Given the description of an element on the screen output the (x, y) to click on. 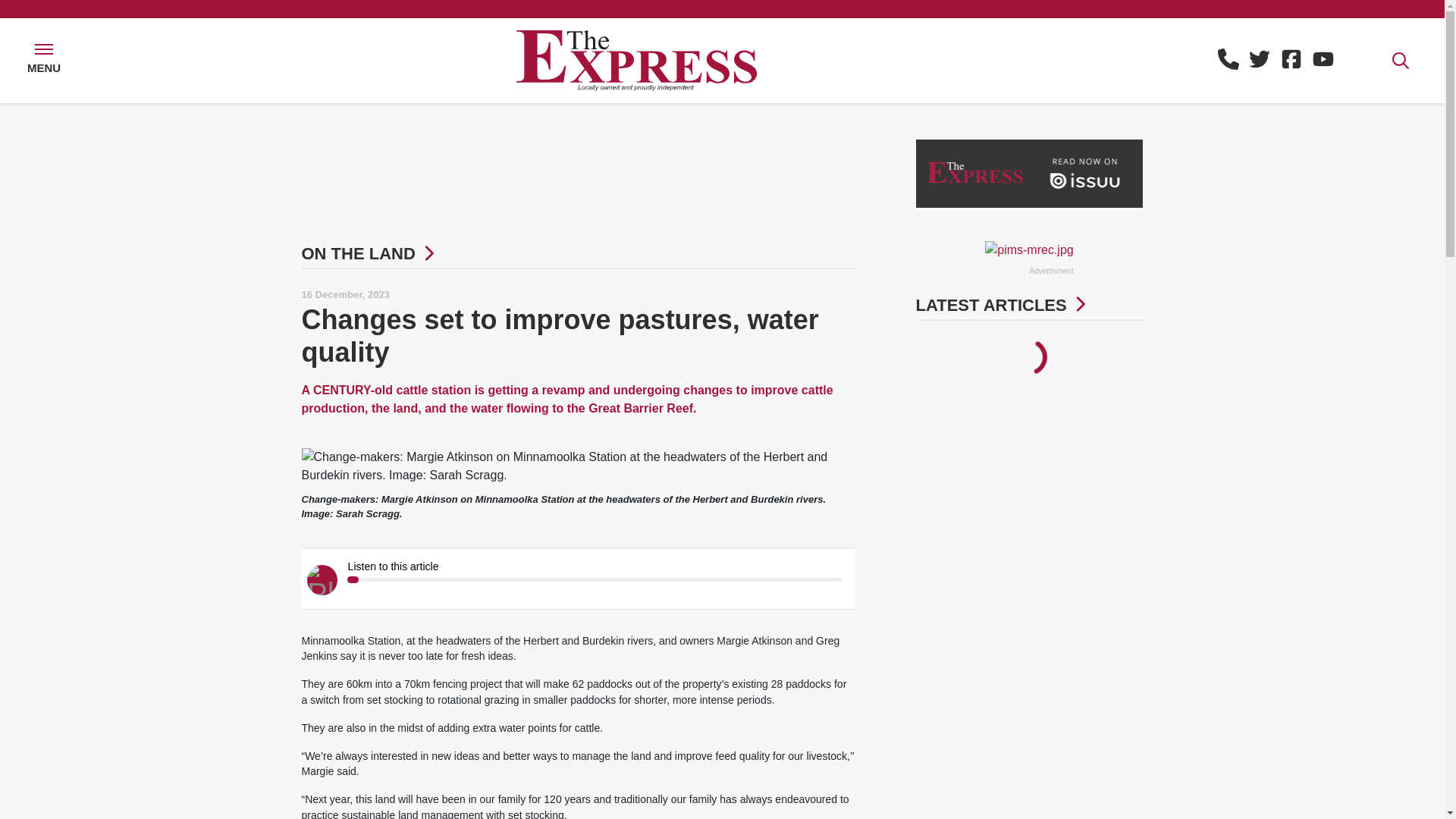
ON THE LAND (357, 253)
MENU (43, 60)
